Given the description of an element on the screen output the (x, y) to click on. 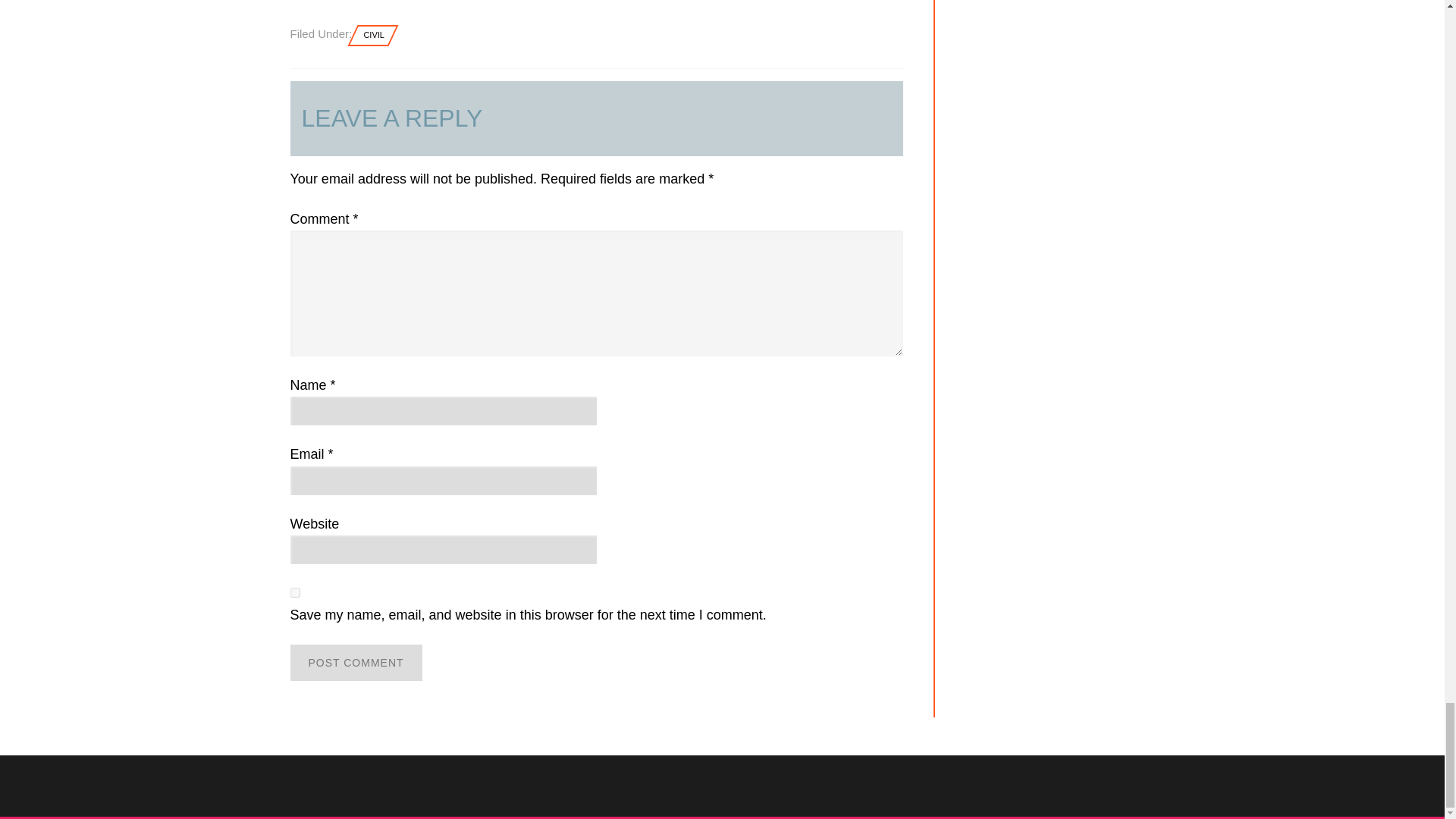
Post Comment (355, 662)
Post Comment (355, 662)
yes (294, 592)
CIVIL (374, 35)
